Given the description of an element on the screen output the (x, y) to click on. 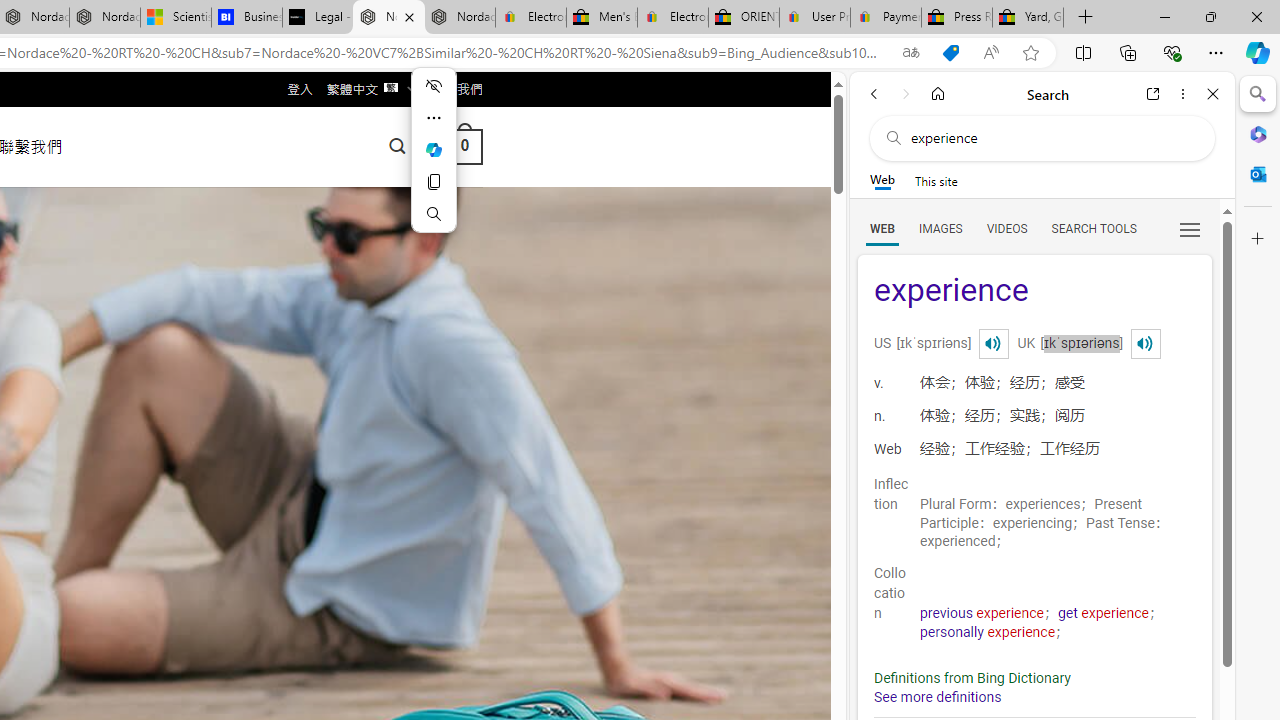
personally experience (988, 632)
Class: dict_pnIcon rms_img (1145, 343)
Mini menu on text selection (433, 149)
get experience (1103, 613)
See more definitions (938, 697)
